Given the description of an element on the screen output the (x, y) to click on. 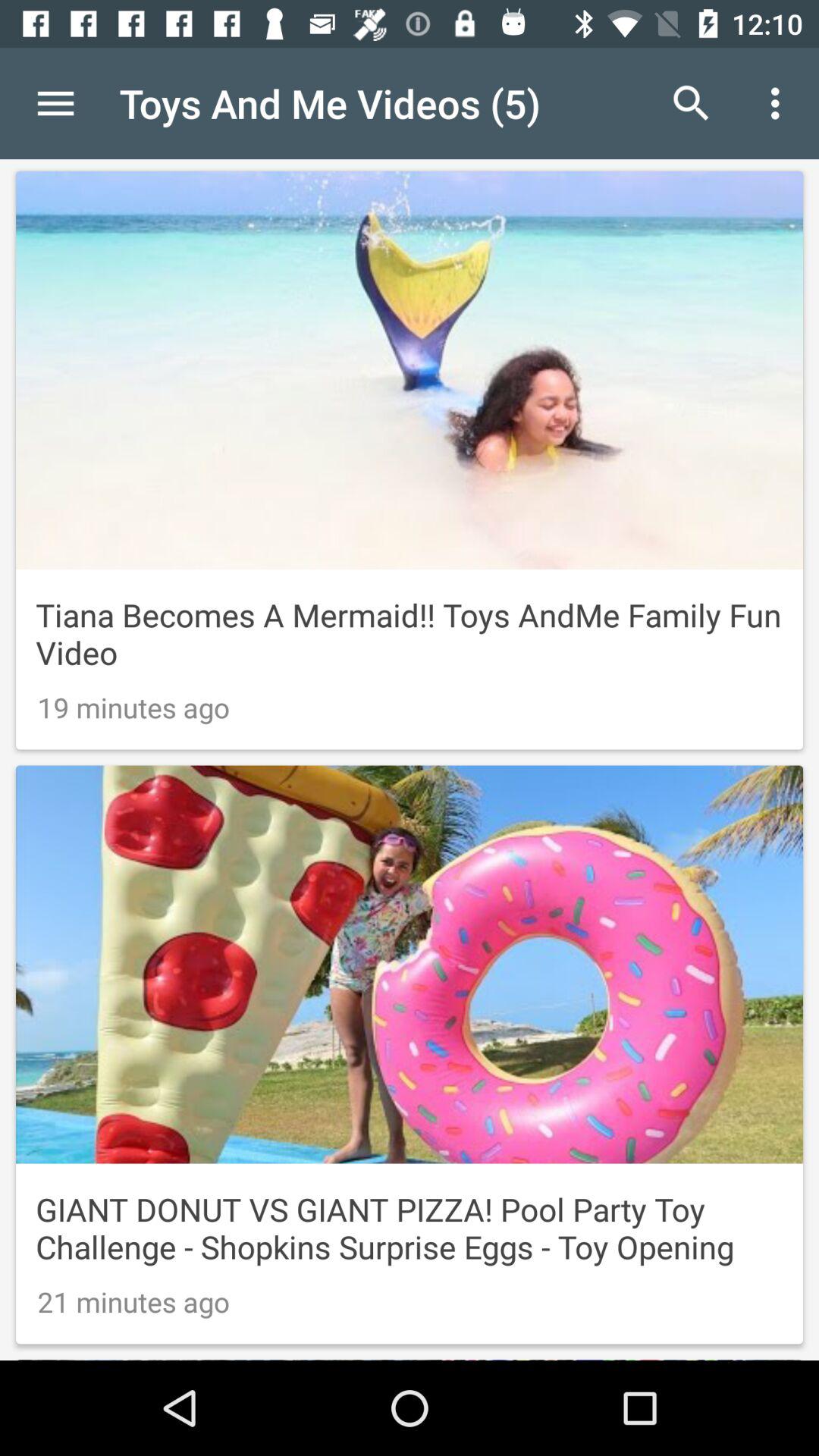
turn off the icon next to the toys and me icon (55, 103)
